Given the description of an element on the screen output the (x, y) to click on. 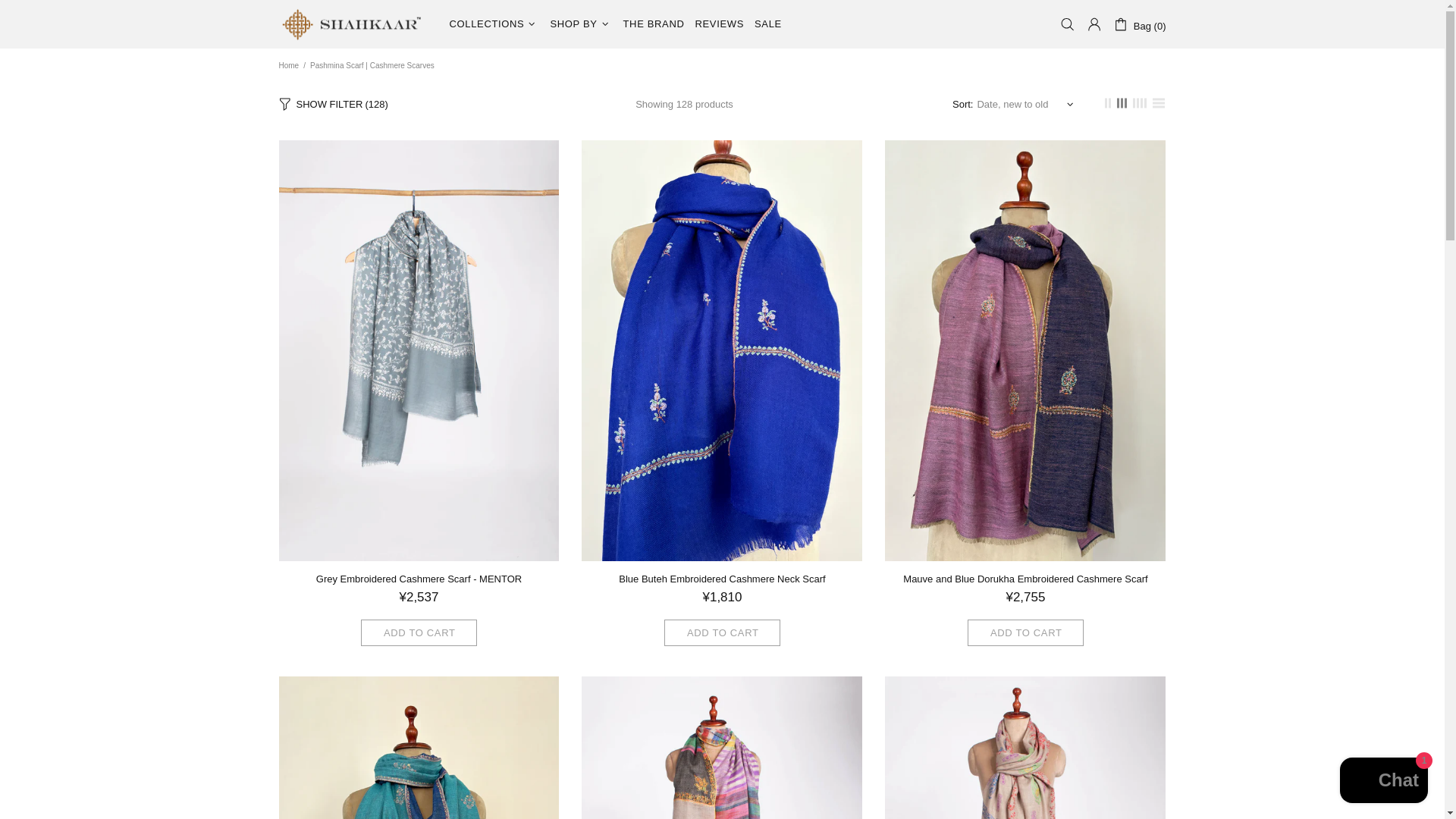
Shahkaar (354, 24)
REVIEWS (719, 24)
SUBSCRIBE (1119, 513)
SHOP BY (580, 24)
THE BRAND (653, 24)
Shopify online store chat (1383, 781)
COLLECTIONS (494, 24)
SALE (768, 24)
